Given the description of an element on the screen output the (x, y) to click on. 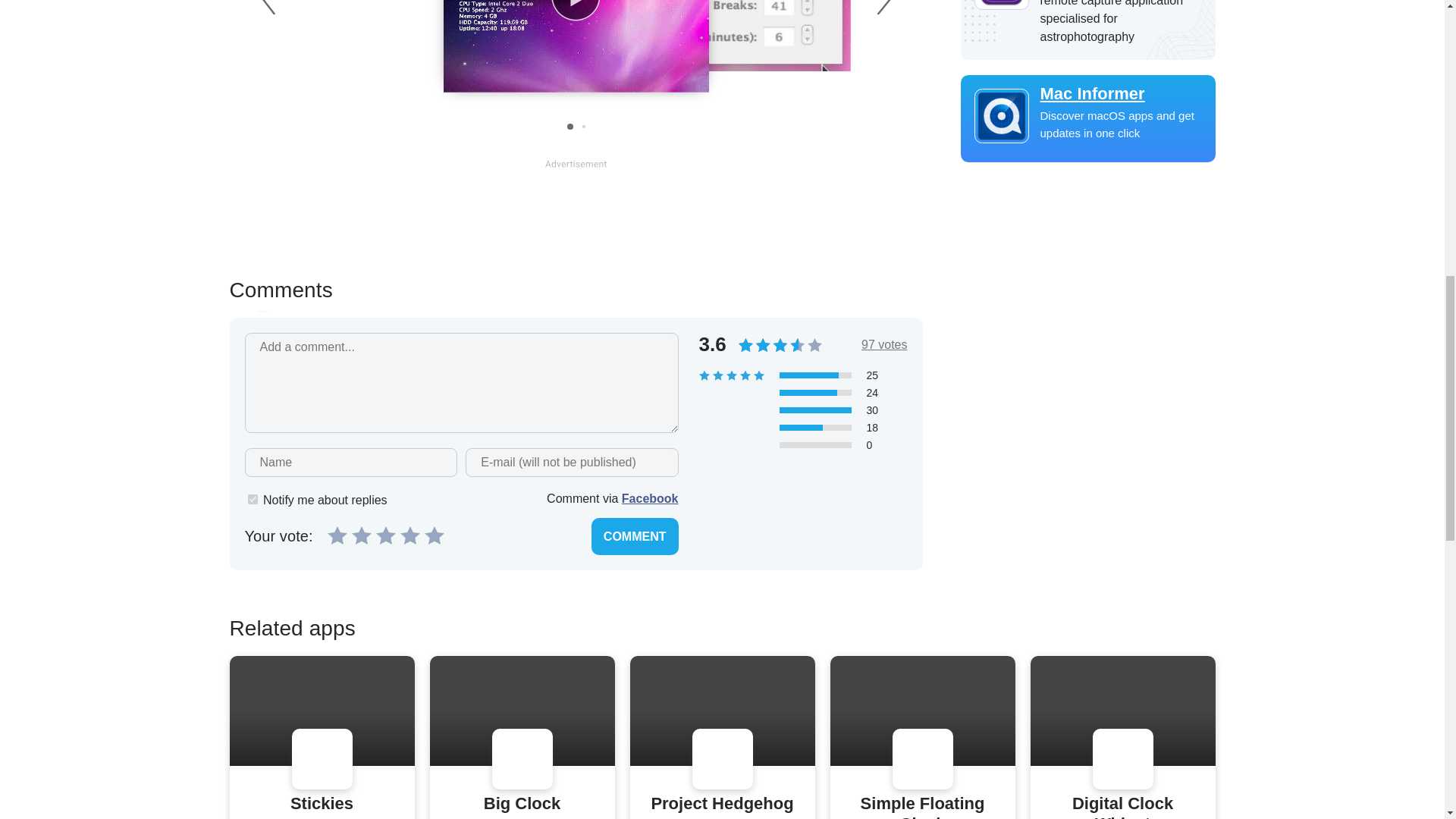
3 (385, 535)
Mac Informer (1087, 94)
Download Stickies (321, 803)
1 (252, 499)
1 (336, 535)
Comment (634, 536)
4 (409, 535)
Download Big Clock (521, 803)
video (574, 53)
5 (434, 535)
Download Project Hedgehog (721, 803)
2 (361, 535)
